Given the description of an element on the screen output the (x, y) to click on. 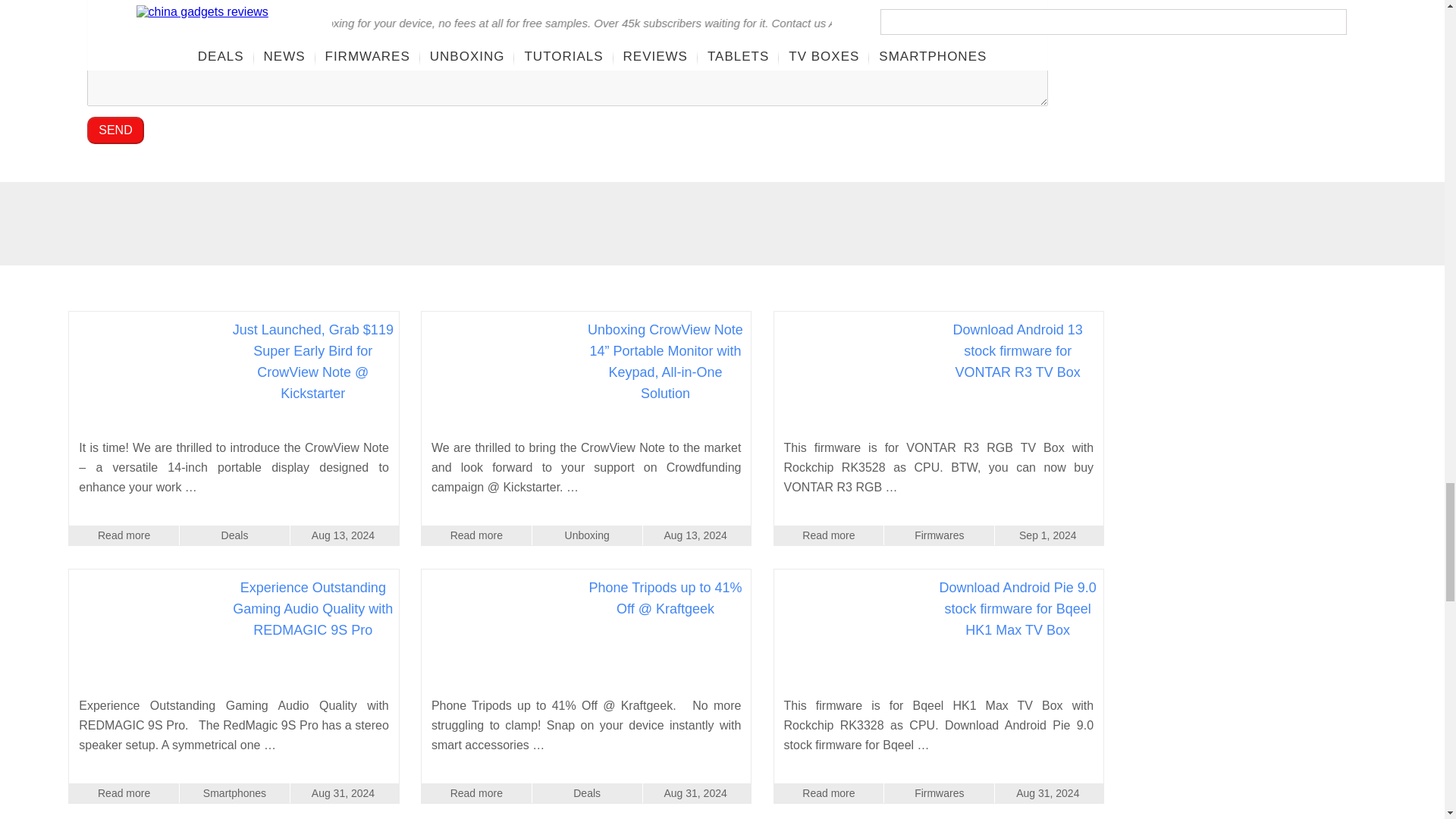
SEND (114, 130)
Deals (234, 535)
Read more (123, 535)
SEND (114, 130)
